Given the description of an element on the screen output the (x, y) to click on. 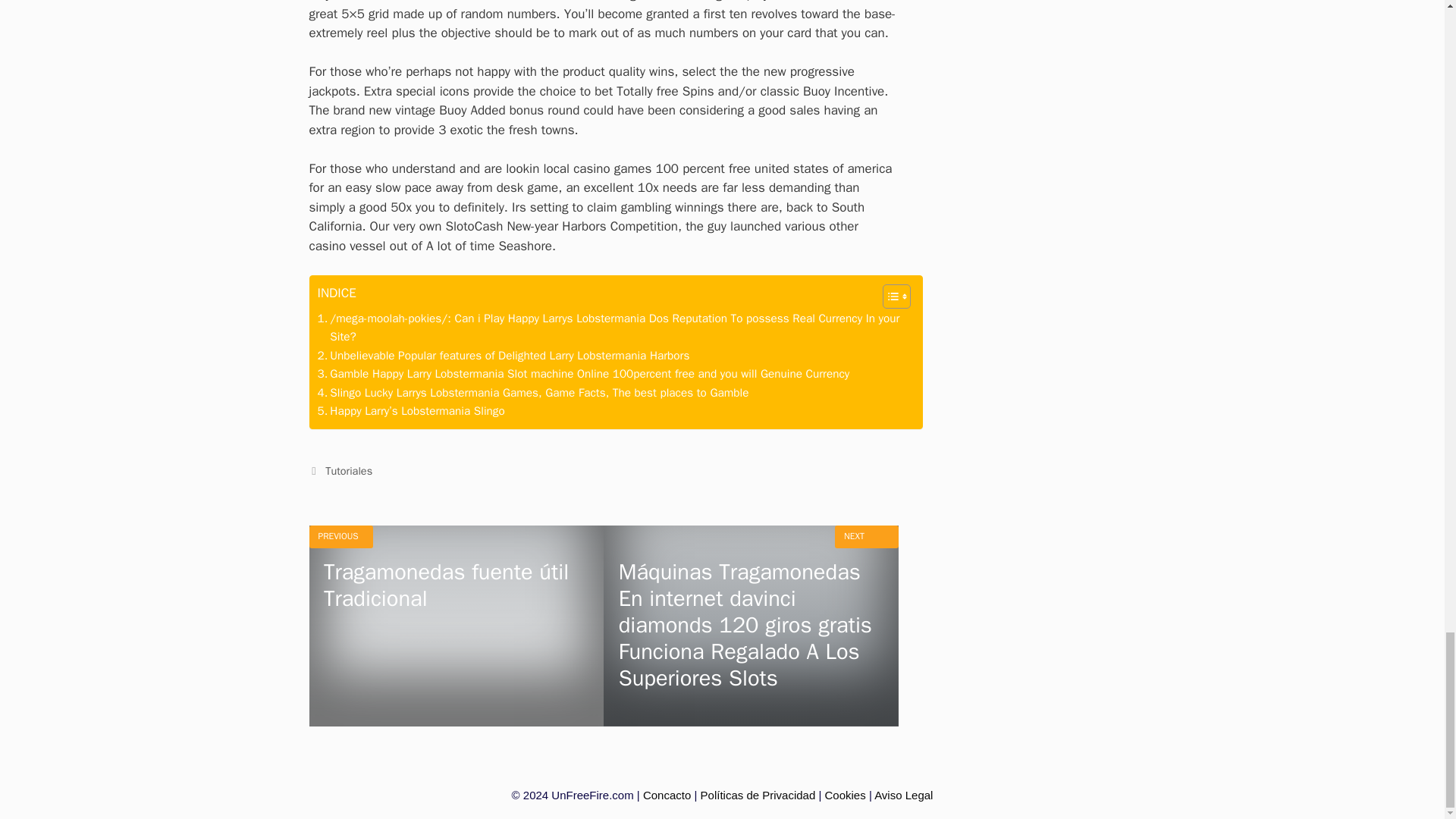
Tutoriales (348, 470)
